Given the description of an element on the screen output the (x, y) to click on. 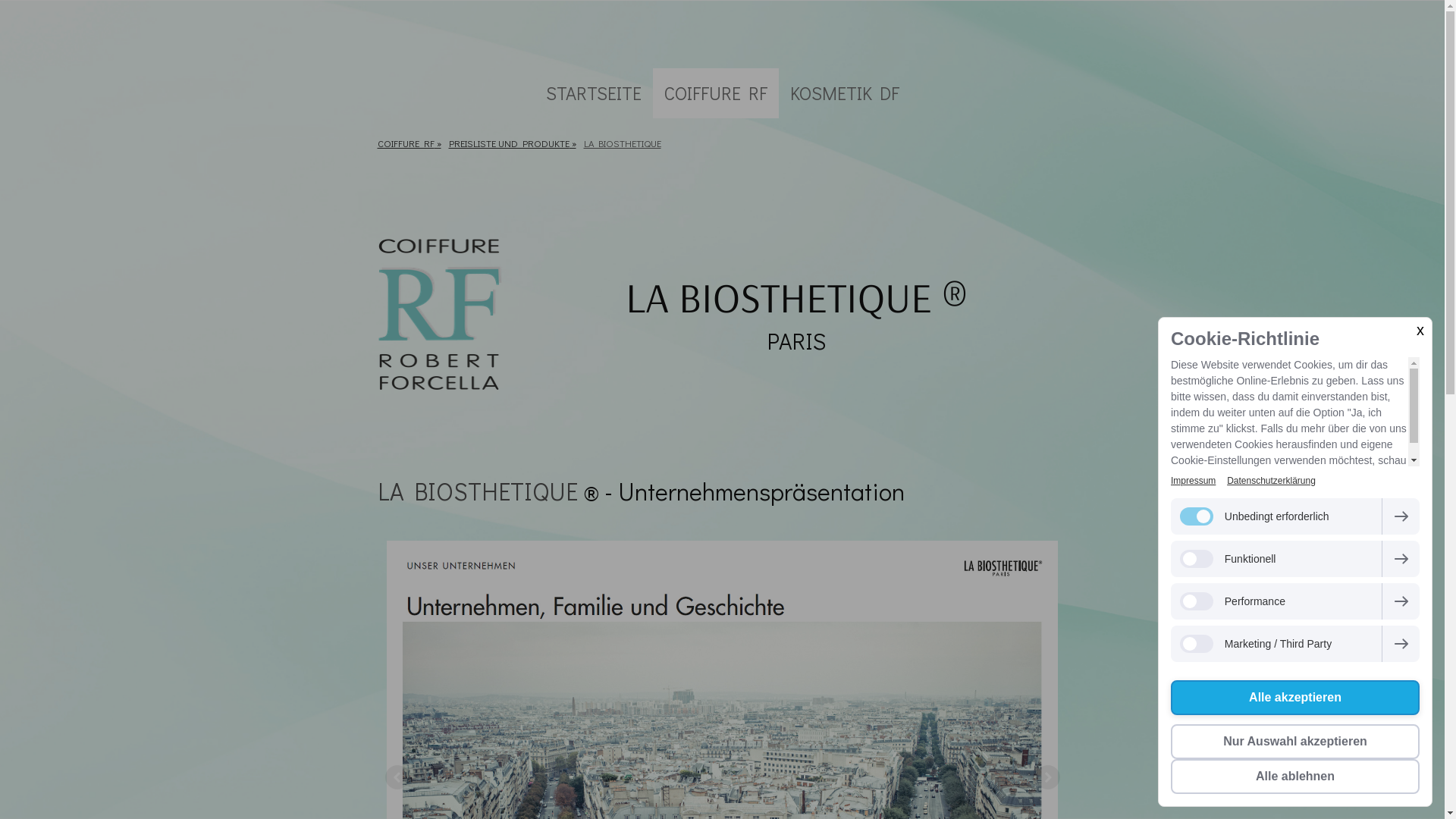
LA BIOSTHETIQUE Element type: text (477, 491)
STARTSEITE Element type: text (592, 93)
PREISLISTE UND PRODUKTE Element type: text (511, 142)
KOSMETIK DF Element type: text (844, 93)
Alle akzeptieren Element type: text (1294, 697)
LA BIOSTHETIQUE Element type: text (621, 142)
Alle ablehnen Element type: text (1294, 776)
Impressum Element type: text (1192, 480)
Nur Auswahl akzeptieren Element type: text (1294, 741)
COIFFURE RF Element type: text (408, 142)
COIFFURE RF Element type: text (715, 93)
